Given the description of an element on the screen output the (x, y) to click on. 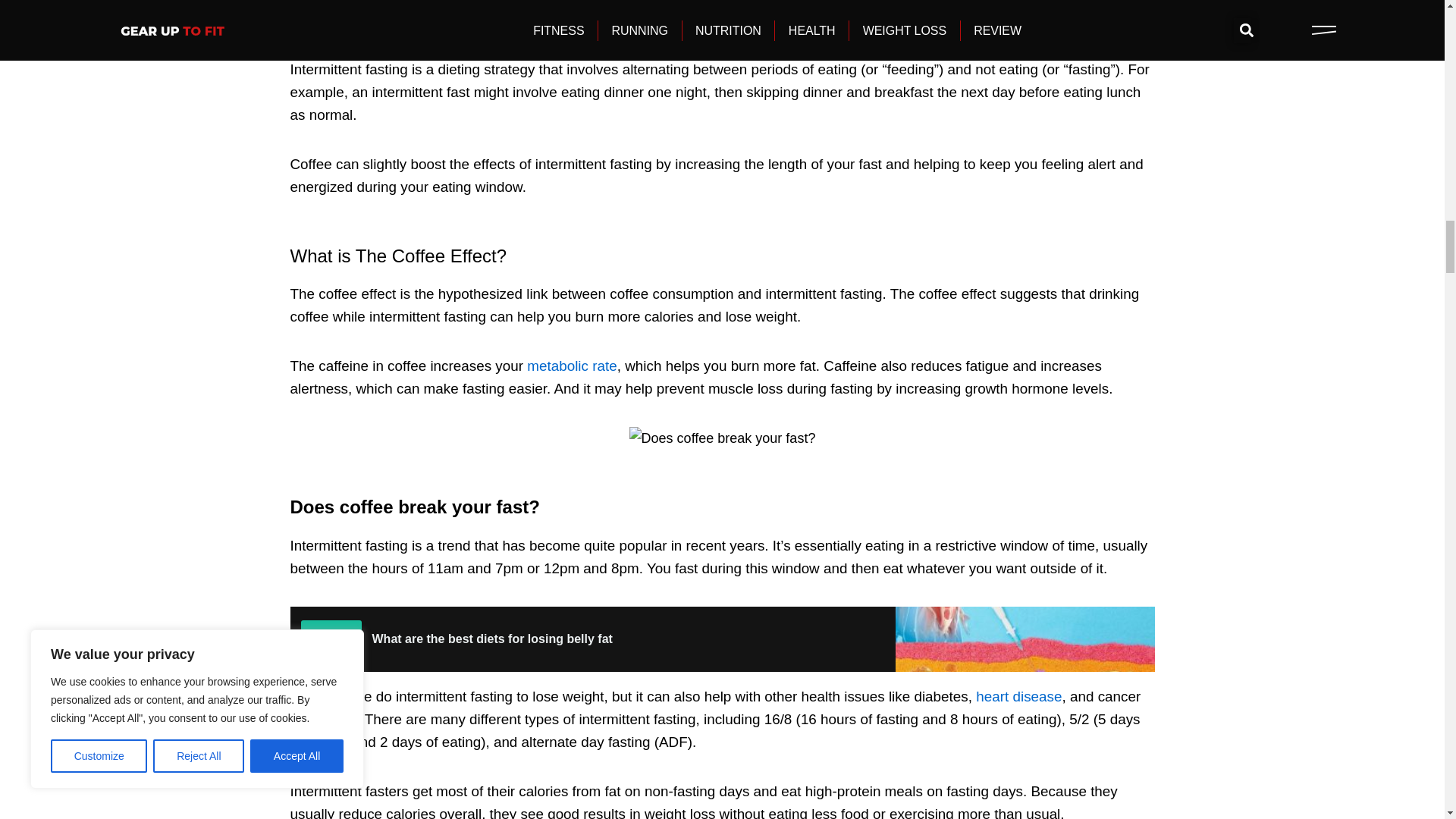
heart disease (1018, 696)
